Given the description of an element on the screen output the (x, y) to click on. 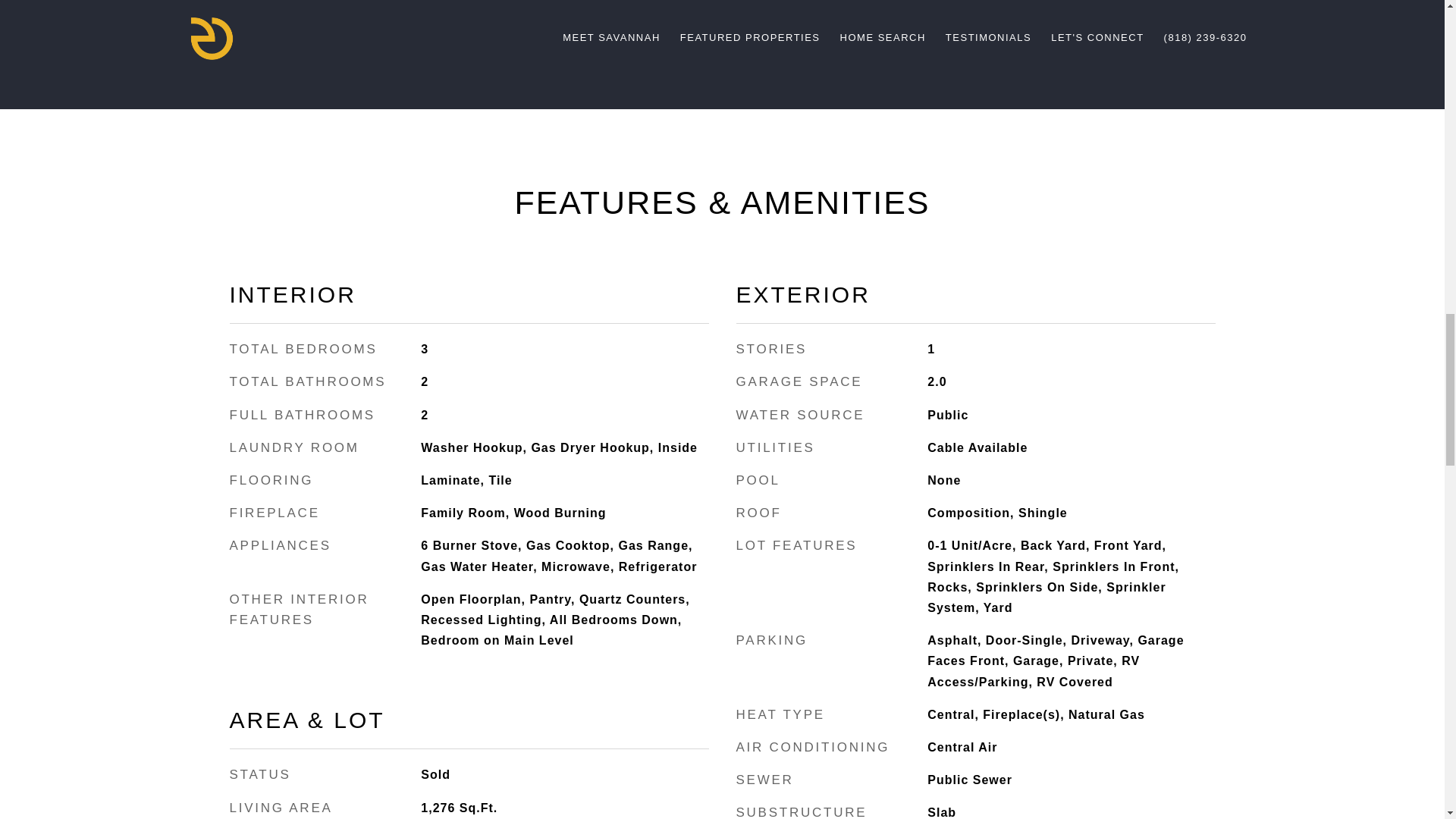
CONTACT AGENT (1090, 7)
